Given the description of an element on the screen output the (x, y) to click on. 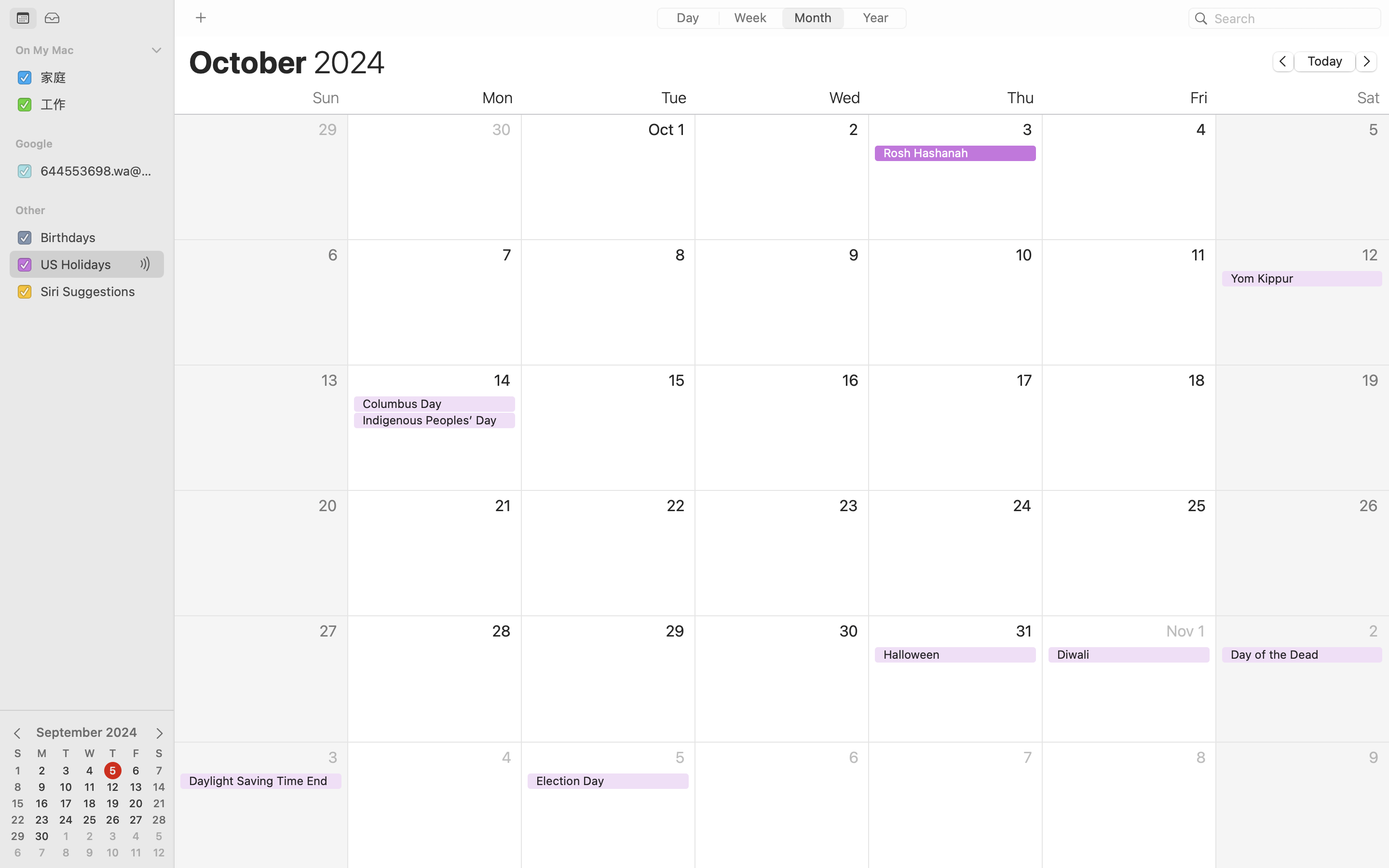
30 Element type: AXStaticText (41, 836)
12 Element type: AXStaticText (112, 787)
15 Element type: AXStaticText (17, 803)
Birthdays Element type: AXStaticText (98, 236)
